Given the description of an element on the screen output the (x, y) to click on. 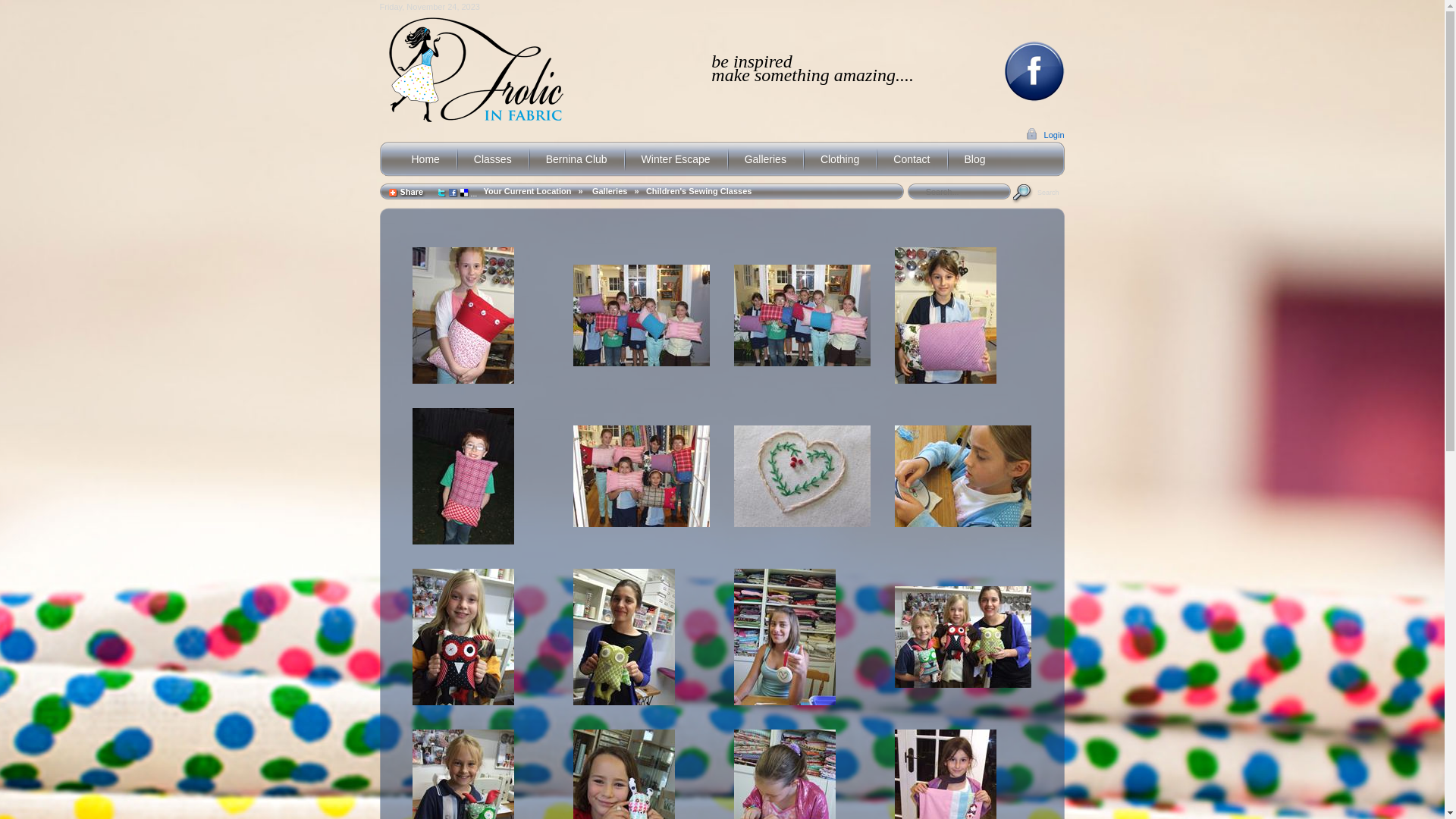
Blog Element type: text (974, 158)
Classes Element type: text (492, 158)
Login Element type: text (1044, 134)
Winter Escape Element type: text (675, 158)
Children's Sewing Classes Element type: text (699, 190)
Contact Element type: text (911, 158)
Clothing Element type: text (839, 158)
Home Element type: text (424, 158)
Search Element type: text (1037, 191)
Chenille cushions Element type: hover (641, 475)
Bernina Club Element type: text (576, 158)
Cushion Element type: hover (462, 476)
Galleries Element type: text (765, 158)
Galleries Element type: text (609, 190)
